Given the description of an element on the screen output the (x, y) to click on. 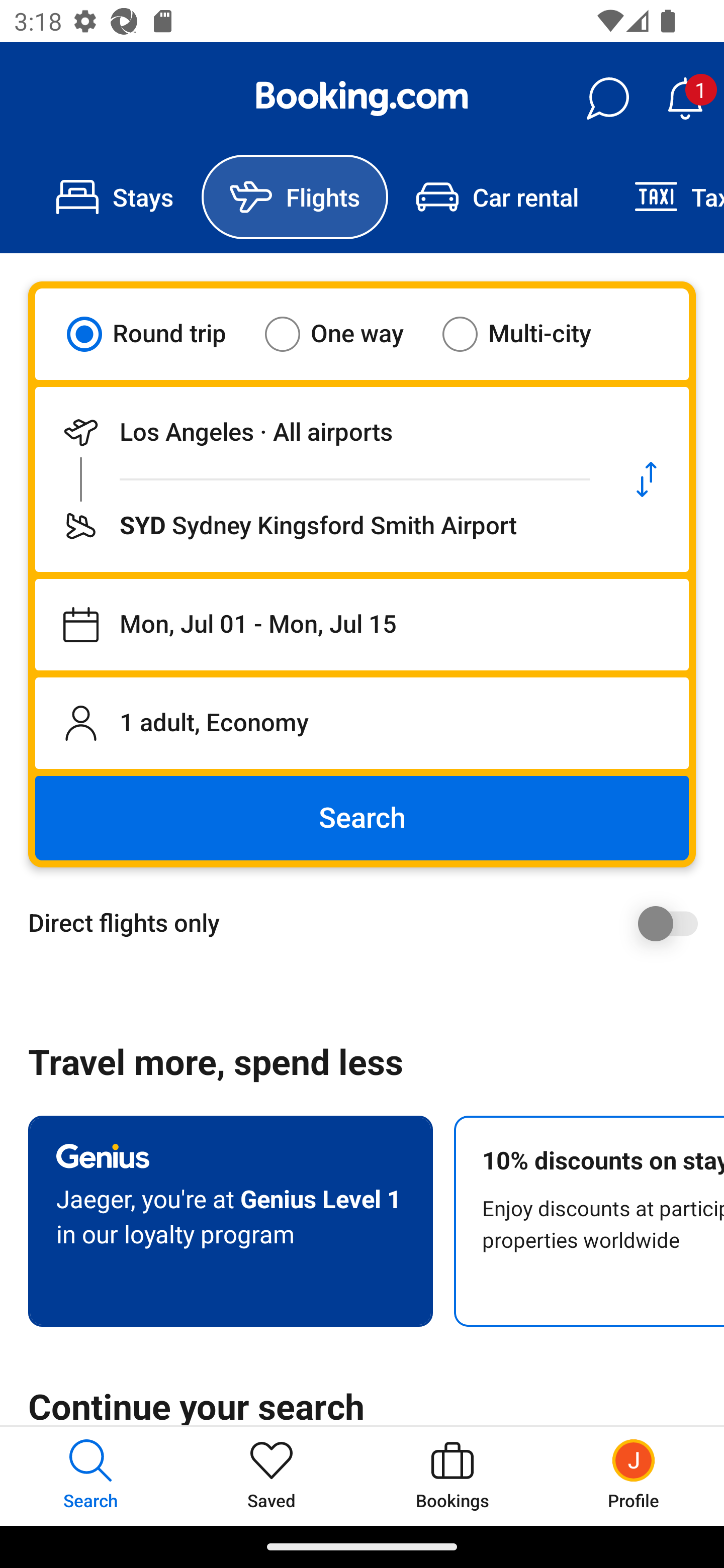
Messages (607, 98)
Notifications (685, 98)
Stays (114, 197)
Flights (294, 197)
Car rental (497, 197)
Taxi (665, 197)
One way (346, 333)
Multi-city (528, 333)
Departing from Los Angeles · All airports (319, 432)
Swap departure location and destination (646, 479)
Flying to SYD Sydney Kingsford Smith Airport (319, 525)
Departing on Mon, Jul 01, returning on Mon, Jul 15 (361, 624)
1 adult, Economy (361, 722)
Search (361, 818)
Direct flights only (369, 923)
Saved (271, 1475)
Bookings (452, 1475)
Profile (633, 1475)
